Given the description of an element on the screen output the (x, y) to click on. 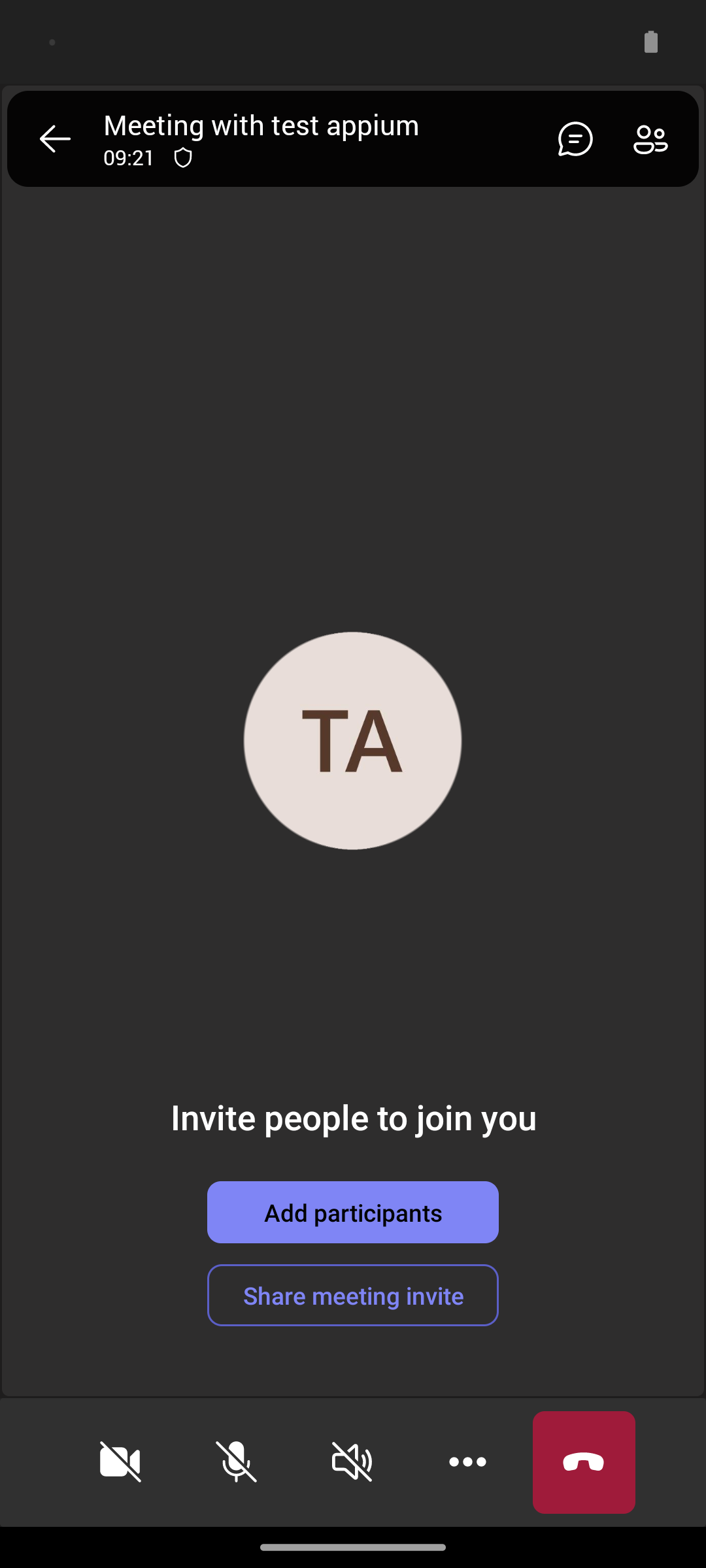
Back (55, 138)
Chat (570, 138)
Show participants (655, 138)
Add participants (352, 1211)
Share meeting invite (352, 1294)
Turn on camera (120, 1462)
Unmute (236, 1462)
Audio (352, 1462)
More options (468, 1462)
Hang up (584, 1462)
